Given the description of an element on the screen output the (x, y) to click on. 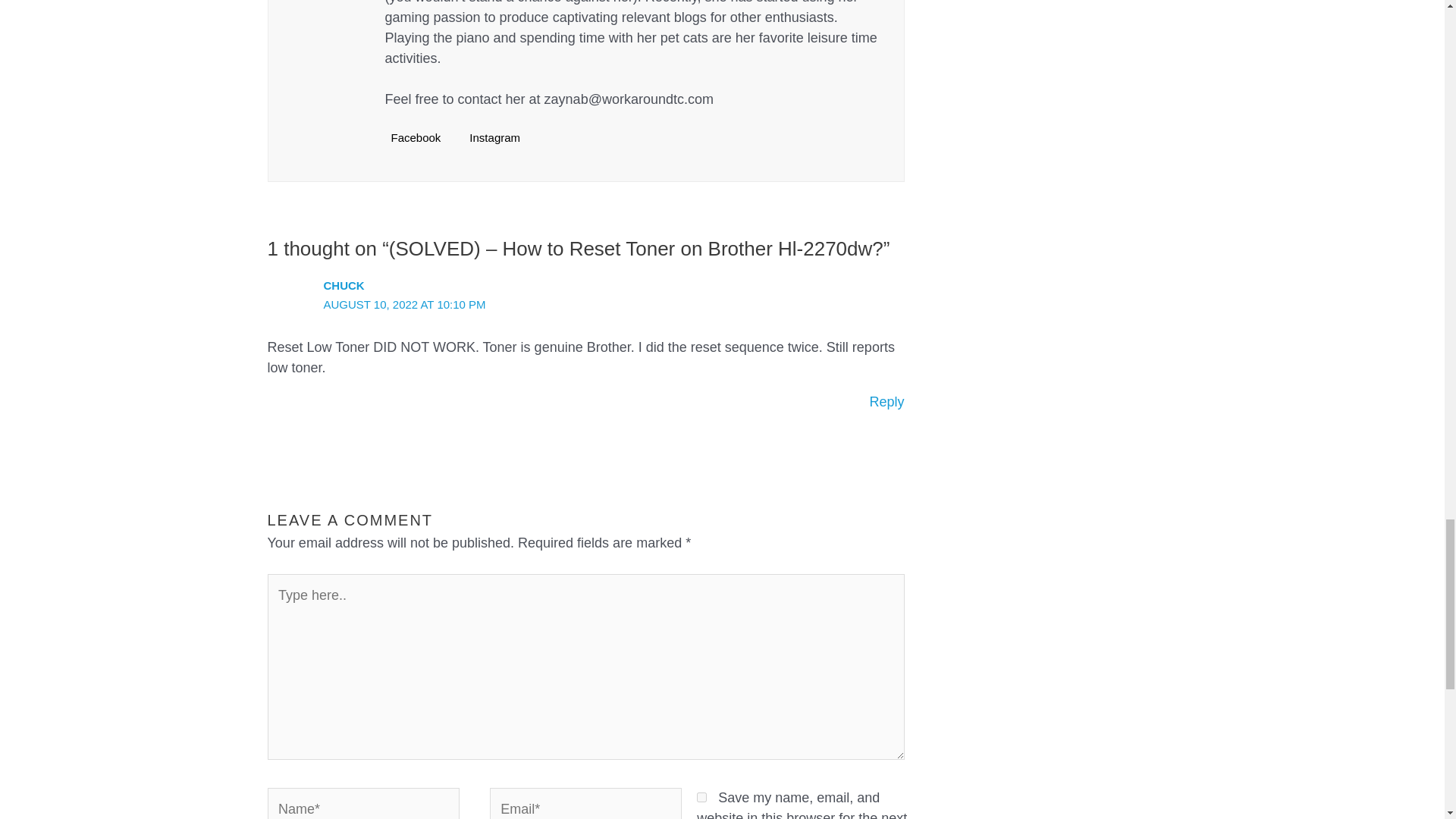
yes (701, 797)
